Given the description of an element on the screen output the (x, y) to click on. 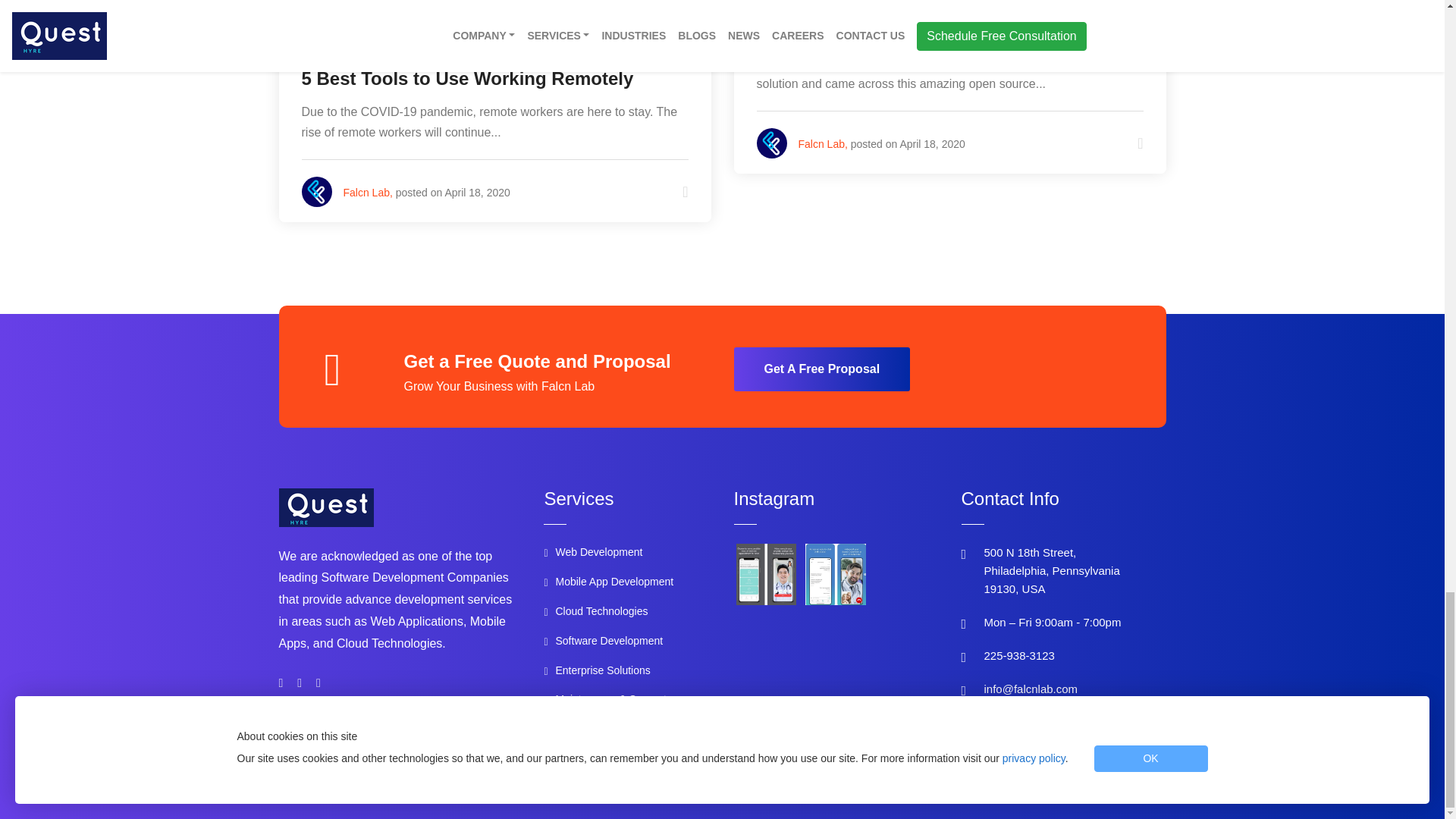
Image Title Here (765, 574)
Image Title Here (835, 574)
